Given the description of an element on the screen output the (x, y) to click on. 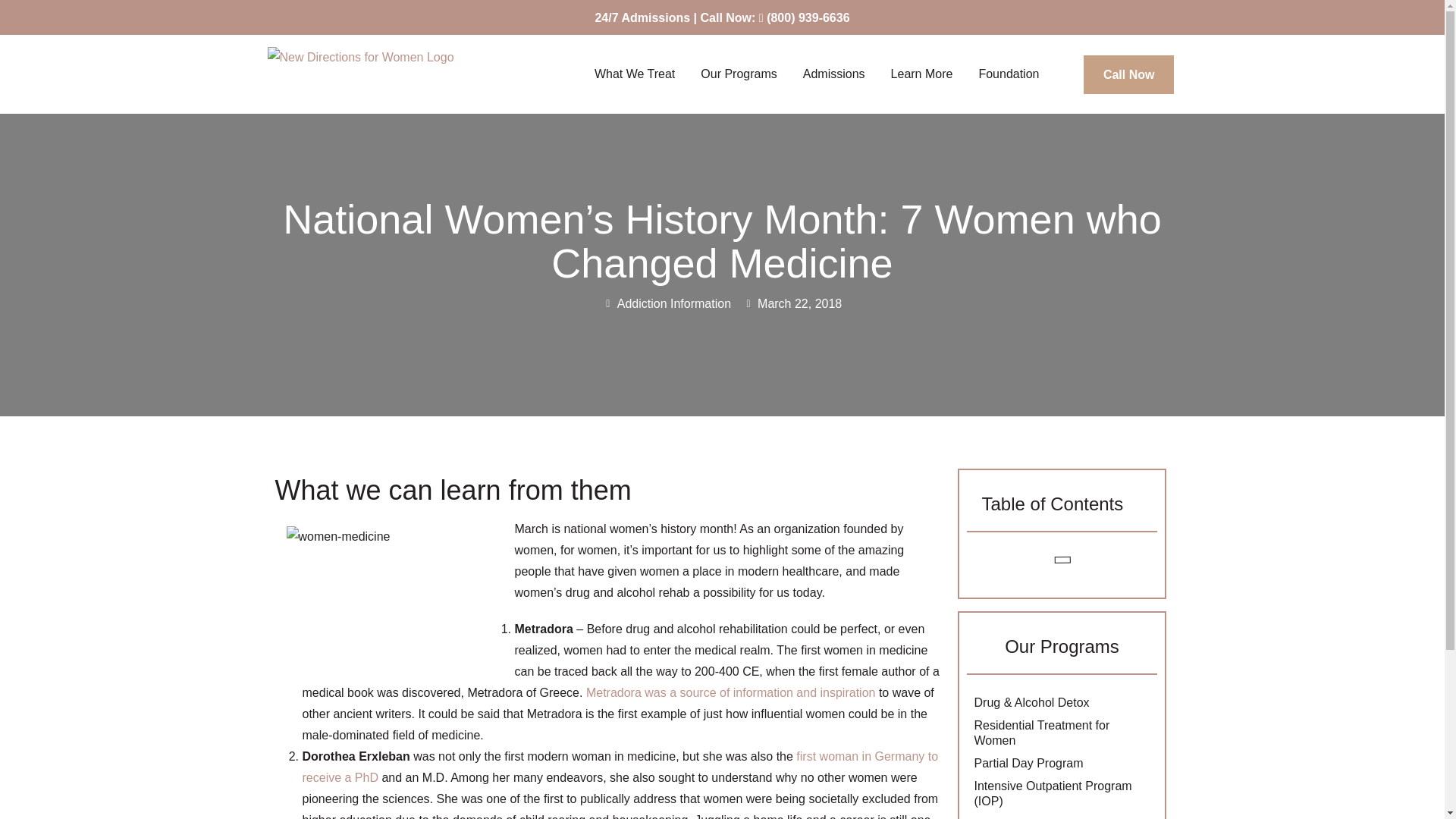
Foundation (1012, 73)
Learn More (925, 73)
Admissions (837, 73)
Our Programs (742, 73)
What We Treat (638, 73)
